Given the description of an element on the screen output the (x, y) to click on. 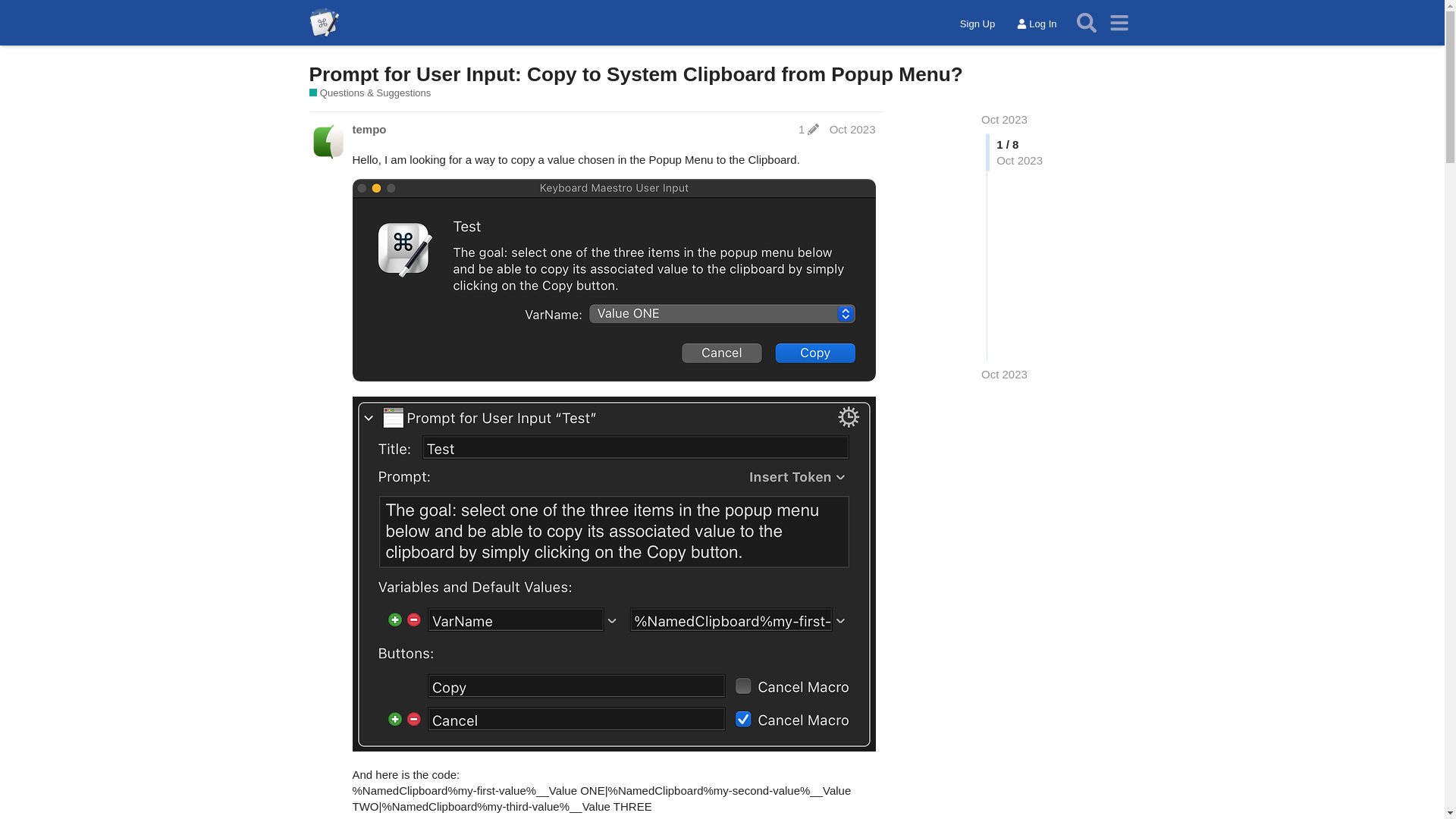
Oct 2023 (1004, 374)
Sign Up (977, 24)
menu (1119, 22)
Oct 25, 2023 9:49 pm (1004, 373)
Oct 2023 (1004, 119)
Oct 2023 (1004, 119)
Search (1086, 22)
Post date (852, 128)
Screen (613, 280)
